Given the description of an element on the screen output the (x, y) to click on. 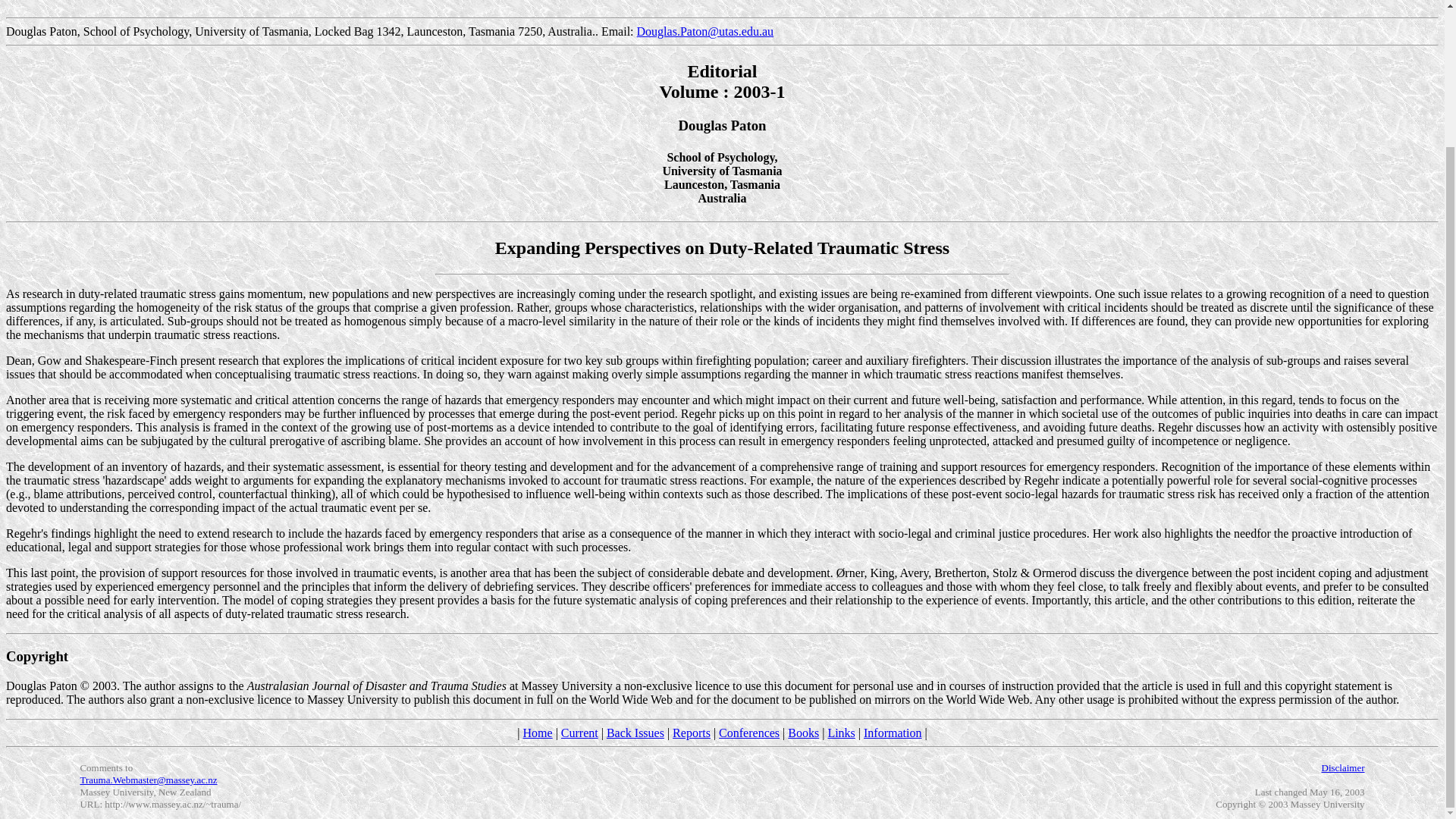
Books (802, 732)
Reports (691, 732)
Home (537, 732)
Back Issues (635, 732)
Links (840, 732)
Disclaimer (1342, 767)
Conferences (748, 732)
Current (579, 732)
Information (892, 732)
